Given the description of an element on the screen output the (x, y) to click on. 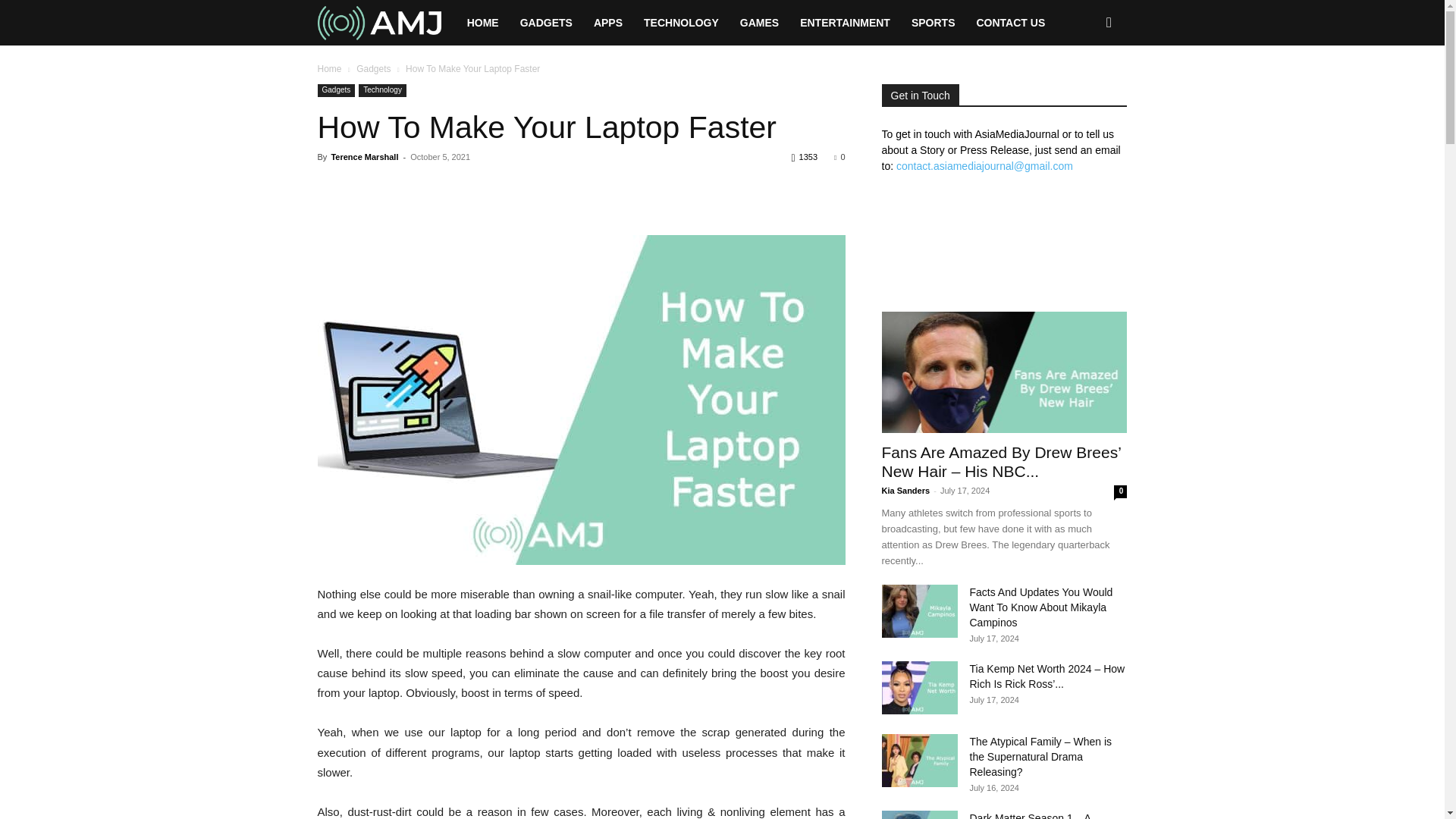
Gadgets (373, 68)
Home (328, 68)
HOME (483, 22)
GADGETS (546, 22)
CONTACT US (1010, 22)
SPORTS (933, 22)
GAMES (759, 22)
Technology (382, 90)
Search (1085, 87)
Gadgets (336, 90)
AMJ (386, 22)
TECHNOLOGY (681, 22)
APPS (608, 22)
Terence Marshall (363, 156)
0 (839, 156)
